Given the description of an element on the screen output the (x, y) to click on. 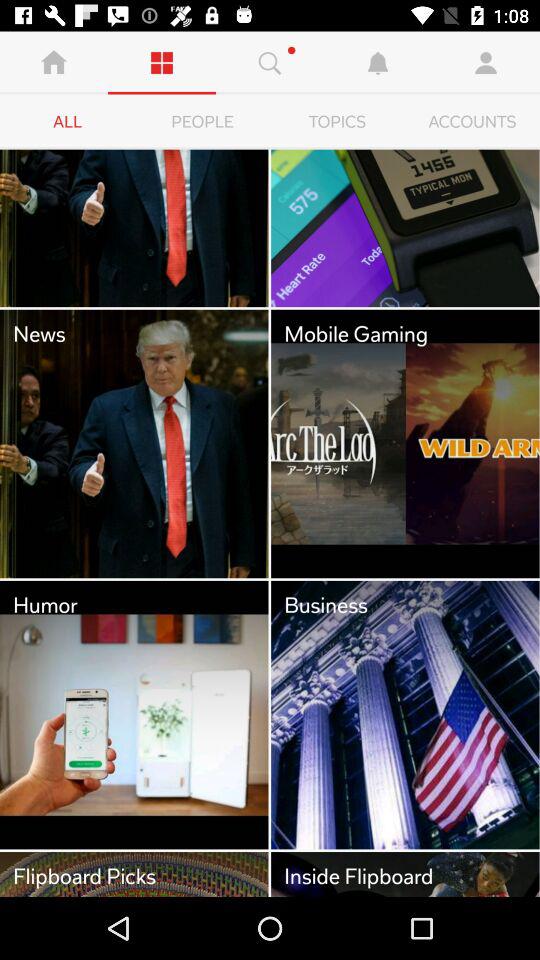
choose the item to the left of the accounts icon (337, 121)
